Given the description of an element on the screen output the (x, y) to click on. 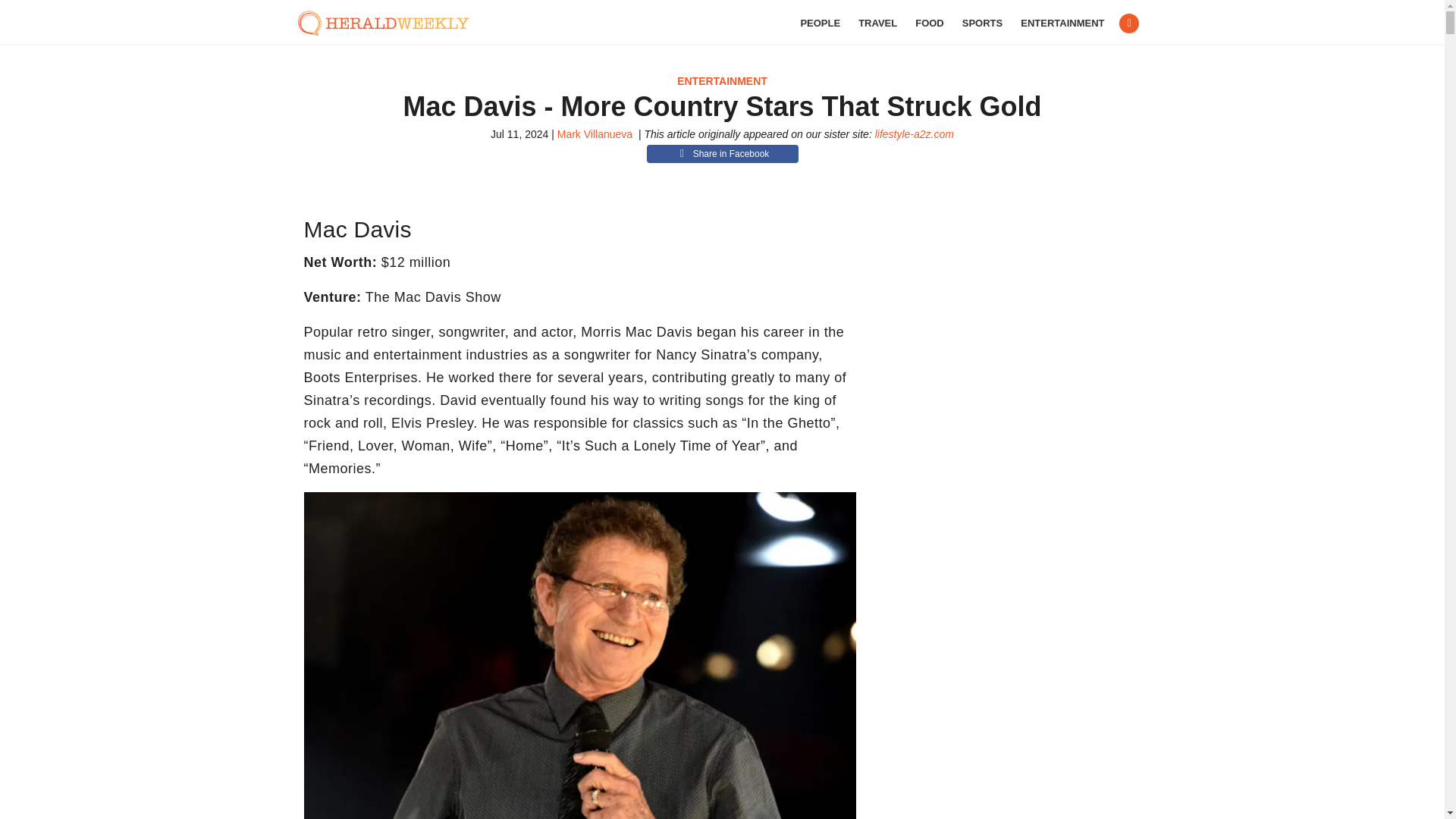
TRAVEL (877, 23)
ENTERTAINMENT (1061, 23)
Facebook (1128, 23)
ENTERTAINMENT (722, 80)
Share in Facebook (721, 153)
lifestyle-a2z.com (914, 133)
Herald Weekly (391, 22)
SPORTS (982, 23)
PEOPLE (819, 23)
